Given the description of an element on the screen output the (x, y) to click on. 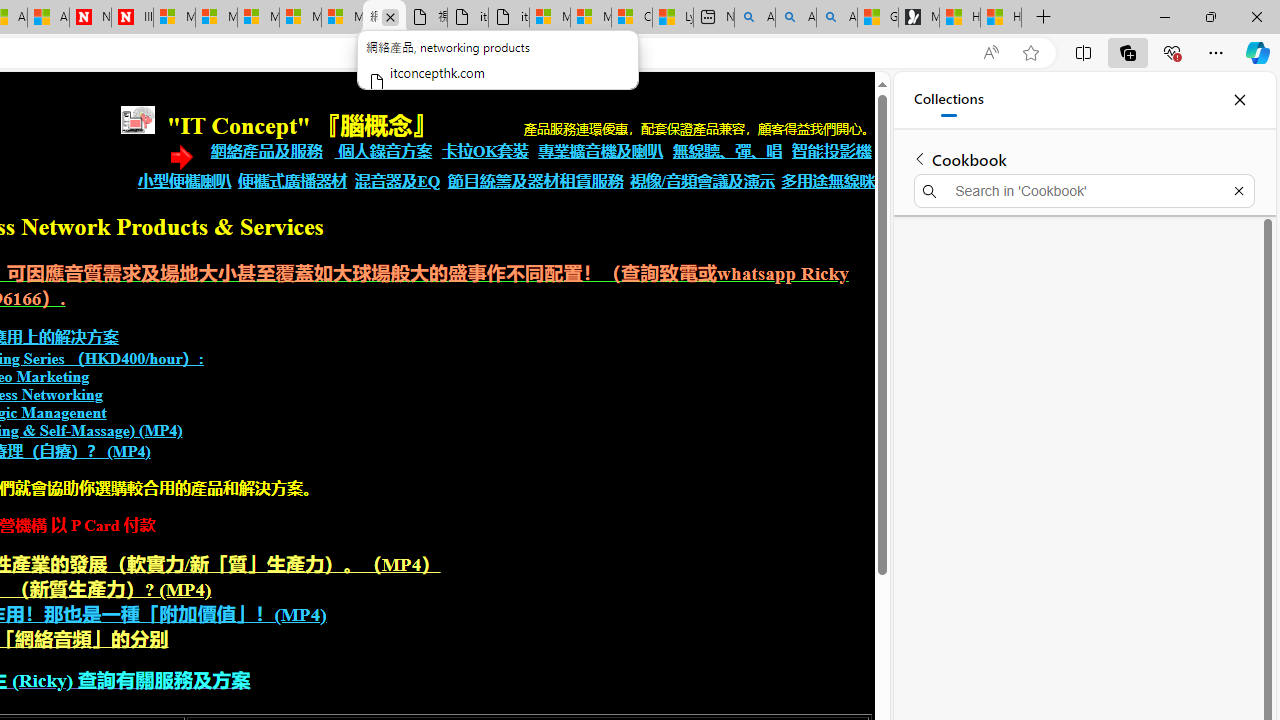
Consumer Health Data Privacy Policy (631, 17)
Exit search (1238, 190)
